Given the description of an element on the screen output the (x, y) to click on. 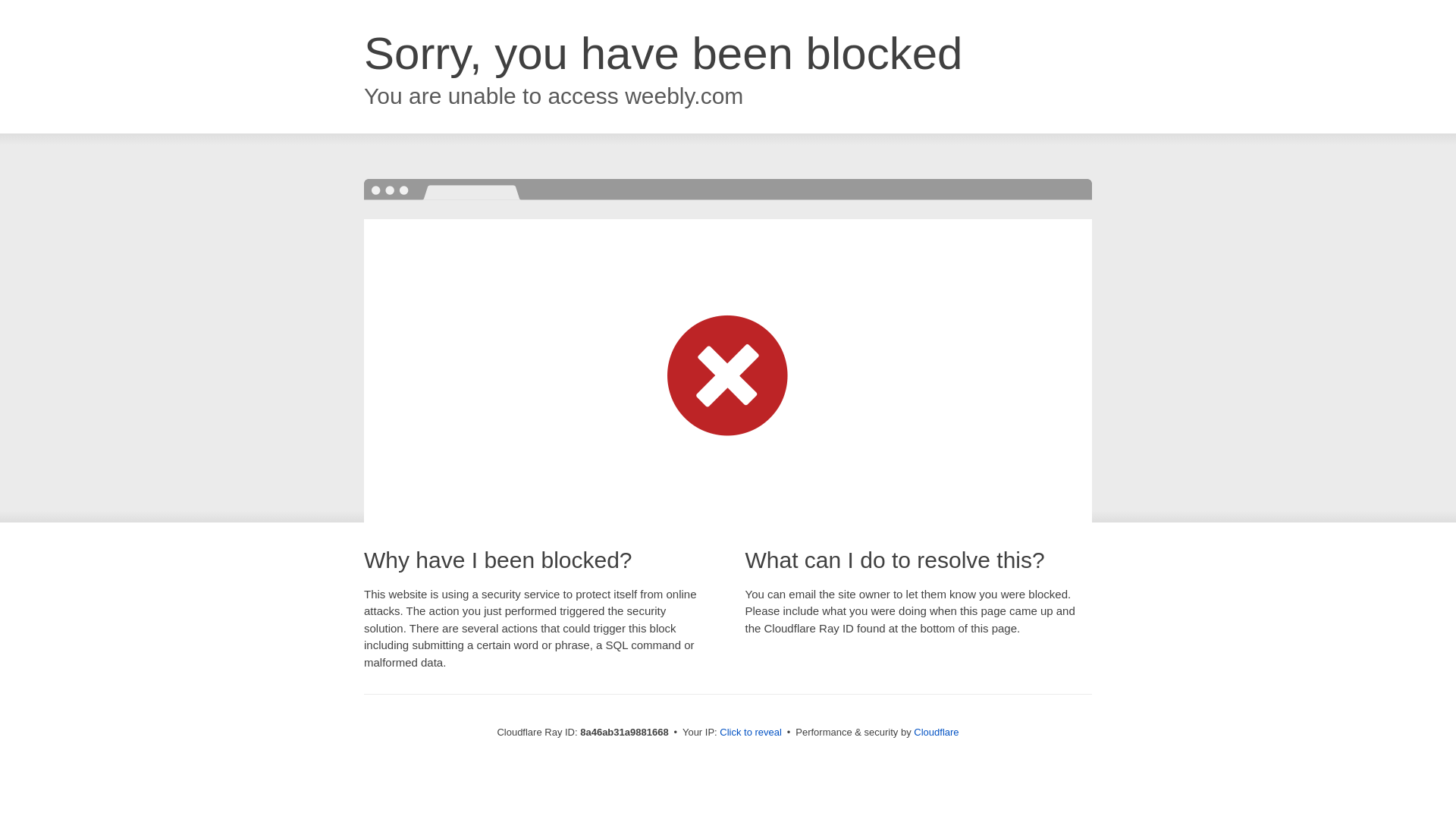
Cloudflare (936, 731)
Click to reveal (750, 732)
